Given the description of an element on the screen output the (x, y) to click on. 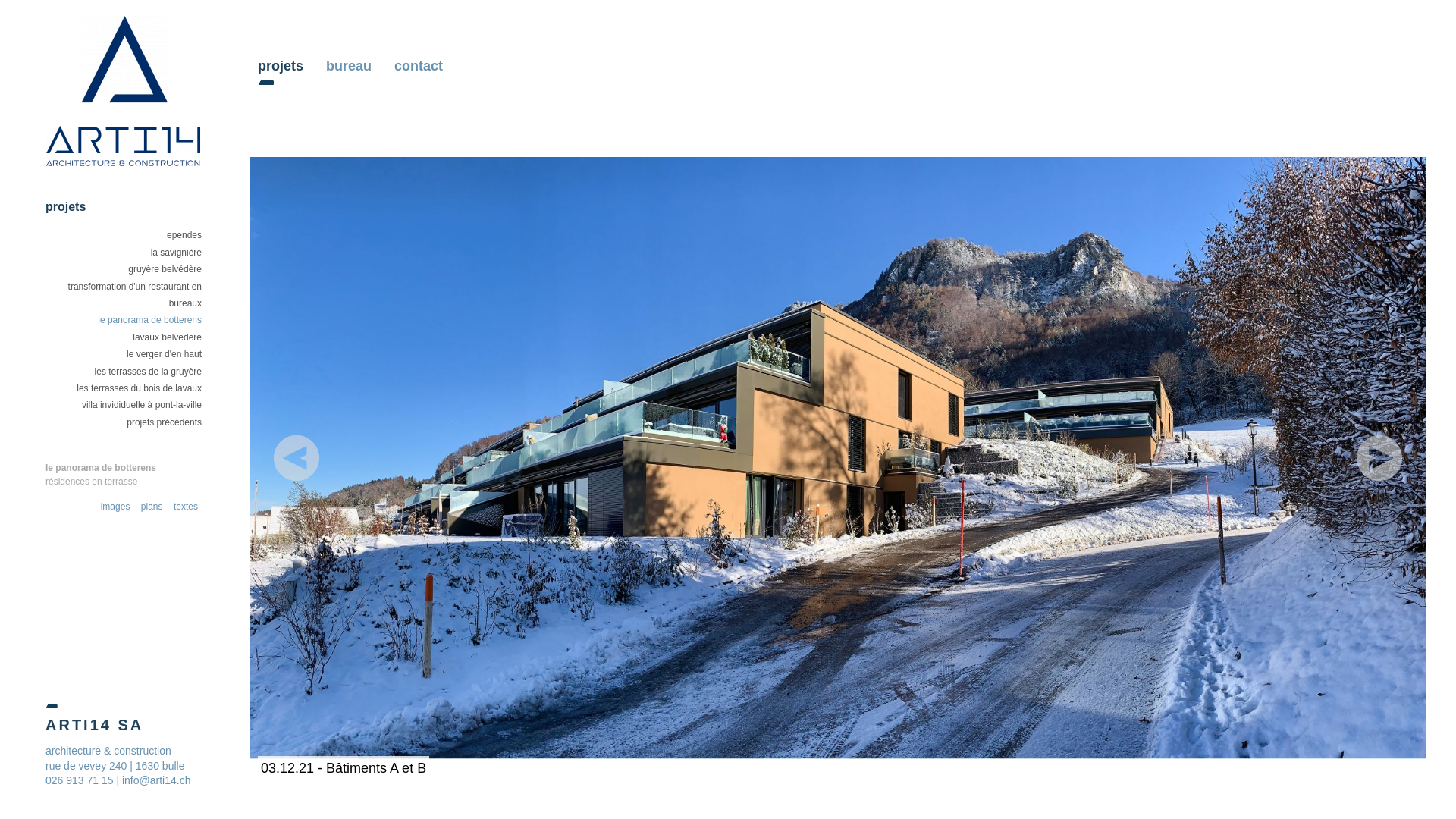
ependes Element type: text (183, 234)
le verger d'en haut Element type: text (163, 354)
architecture & construction Element type: text (108, 750)
les terrasses du bois de lavaux Element type: text (138, 388)
images Element type: text (115, 506)
lavaux belvedere Element type: text (166, 337)
plans Element type: text (151, 506)
textes Element type: text (185, 506)
info@arti14.ch Element type: text (156, 780)
bureau Element type: text (352, 65)
transformation d'un restaurant en bureaux Element type: text (134, 294)
rue de vevey 240 | 1630 bulle Element type: text (114, 765)
ARTI14 SA Element type: hover (123, 89)
le panorama de botterens Element type: text (149, 319)
ARTI14 SA Element type: text (117, 731)
contact Element type: text (422, 65)
projets Element type: text (284, 65)
026 913 71 15 Element type: text (79, 780)
